Given the description of an element on the screen output the (x, y) to click on. 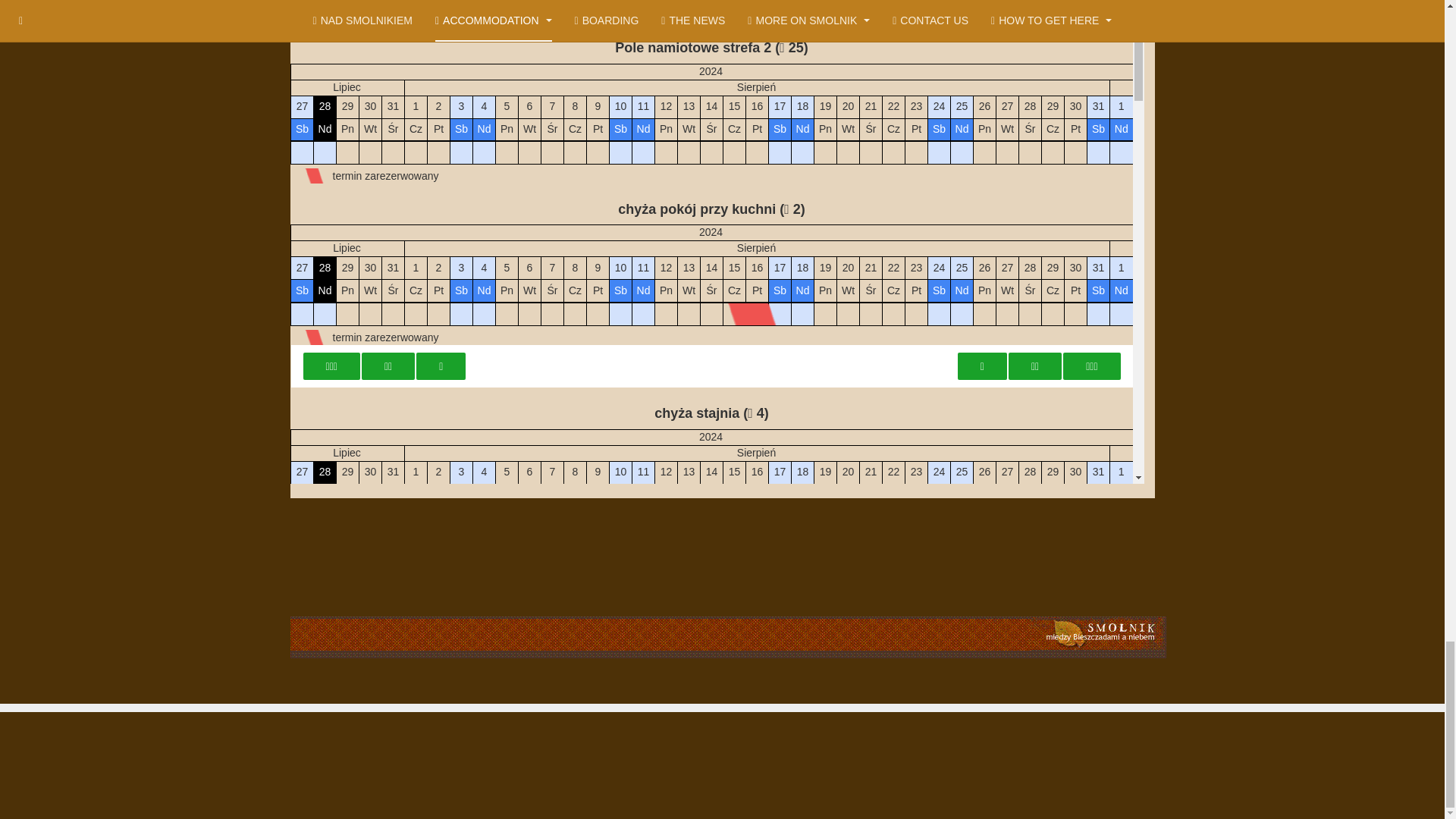
Back to Top (1415, 727)
